Given the description of an element on the screen output the (x, y) to click on. 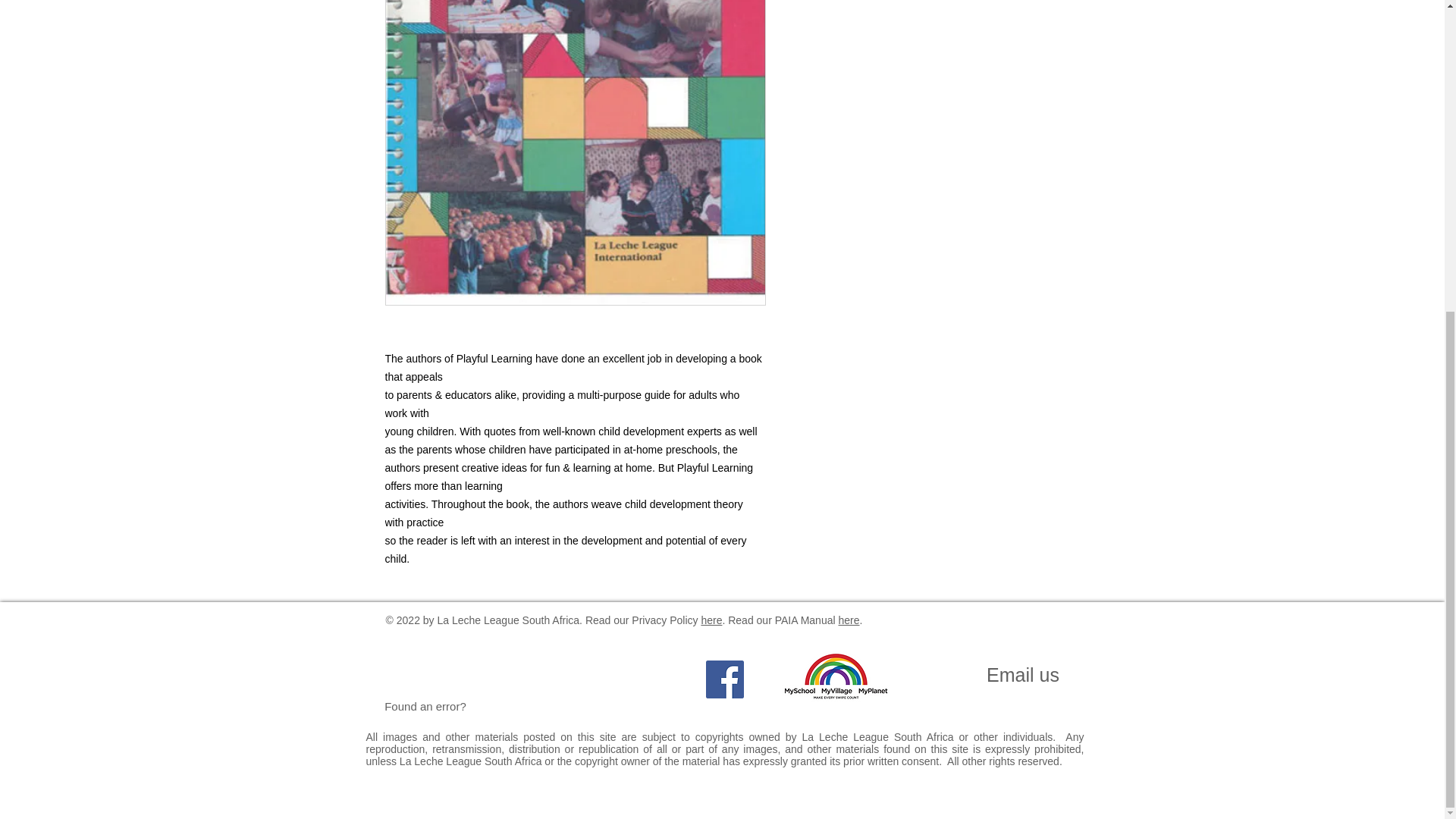
here (711, 620)
here (848, 620)
Found an error? (425, 706)
Email us (1022, 675)
